Given the description of an element on the screen output the (x, y) to click on. 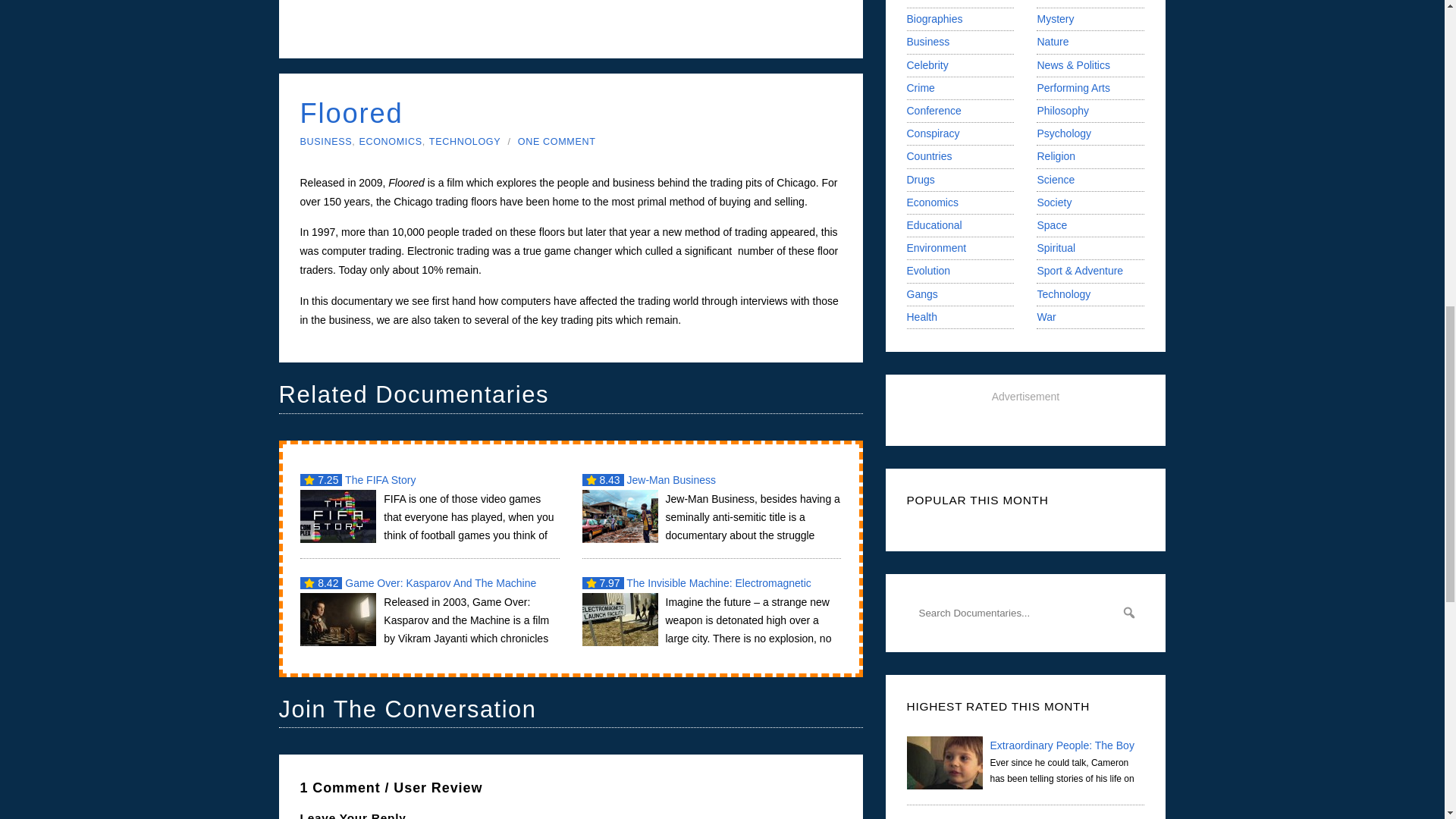
Advertisement (569, 23)
ECONOMICS (390, 141)
ONE COMMENT (556, 141)
Business (928, 41)
BUSINESS (325, 141)
Atheism (925, 1)
Jew-Man Business (711, 506)
TECHNOLOGY (464, 141)
Biographies (934, 19)
The FIFA Story (429, 506)
